Given the description of an element on the screen output the (x, y) to click on. 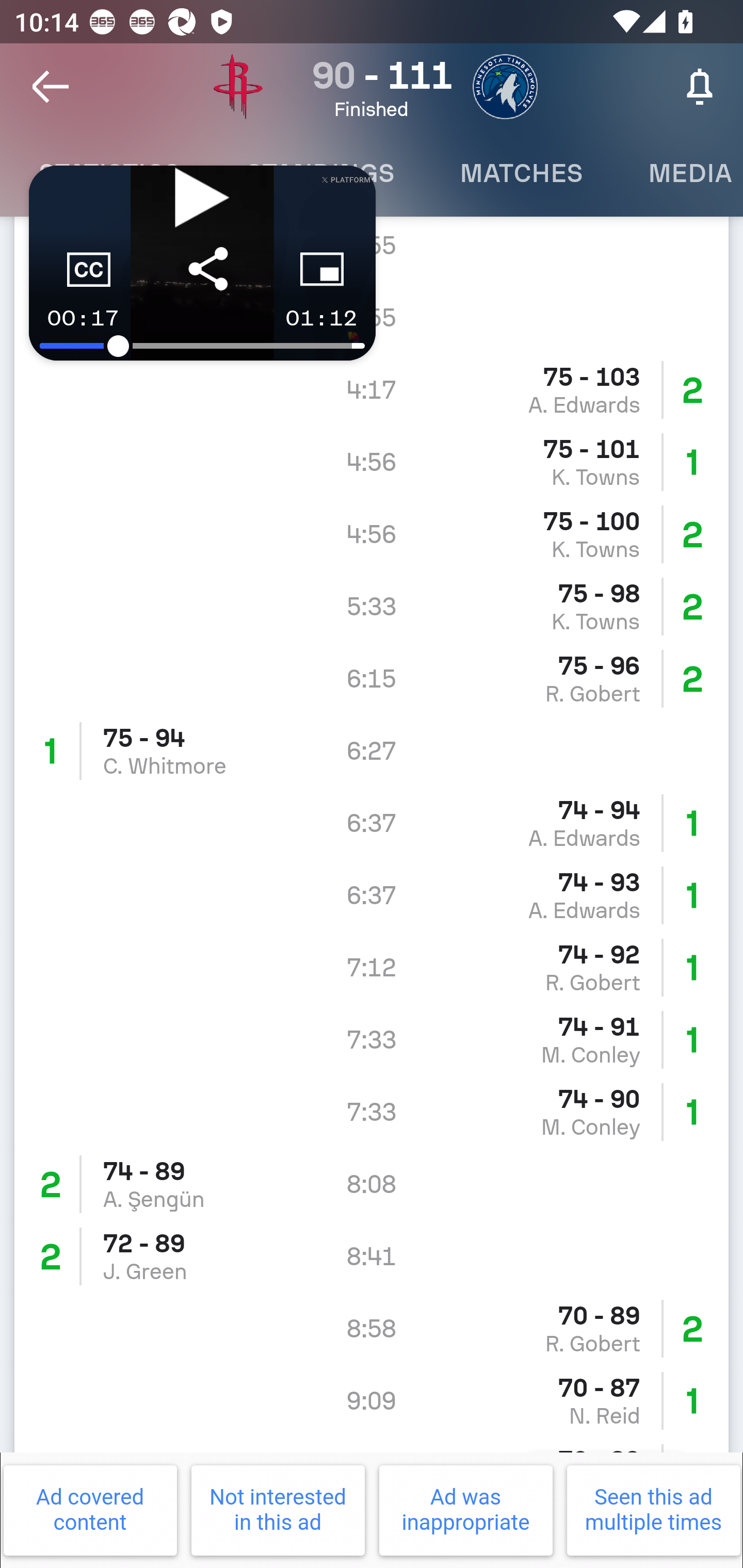
Navigate up (50, 86)
Matches MATCHES (520, 173)
Media MEDIA (679, 173)
103  -  75 A. Edwards 4:17 (371, 390)
101  -  75 K. Towns 4:56 (371, 462)
100  -  75 K. Towns 4:56 (371, 534)
98  -  75 K. Towns 5:33 (371, 606)
96  -  75 R. Gobert 6:15 (371, 678)
75  -  94 C. Whitmore 6:27 (371, 751)
94  -  74 A. Edwards 6:37 (371, 823)
93  -  74 A. Edwards 6:37 (371, 895)
92  -  74 R. Gobert 7:12 (371, 967)
91  -  74 M. Conley 7:33 (371, 1039)
90  -  74 M. Conley 7:33 (371, 1111)
74  -  89 A. Şengün 8:08 (371, 1183)
72  -  89 J. Green 8:41 (371, 1255)
89  -  70 R. Gobert 8:58 (371, 1328)
87  -  70 N. Reid 9:09 (371, 1400)
